Given the description of an element on the screen output the (x, y) to click on. 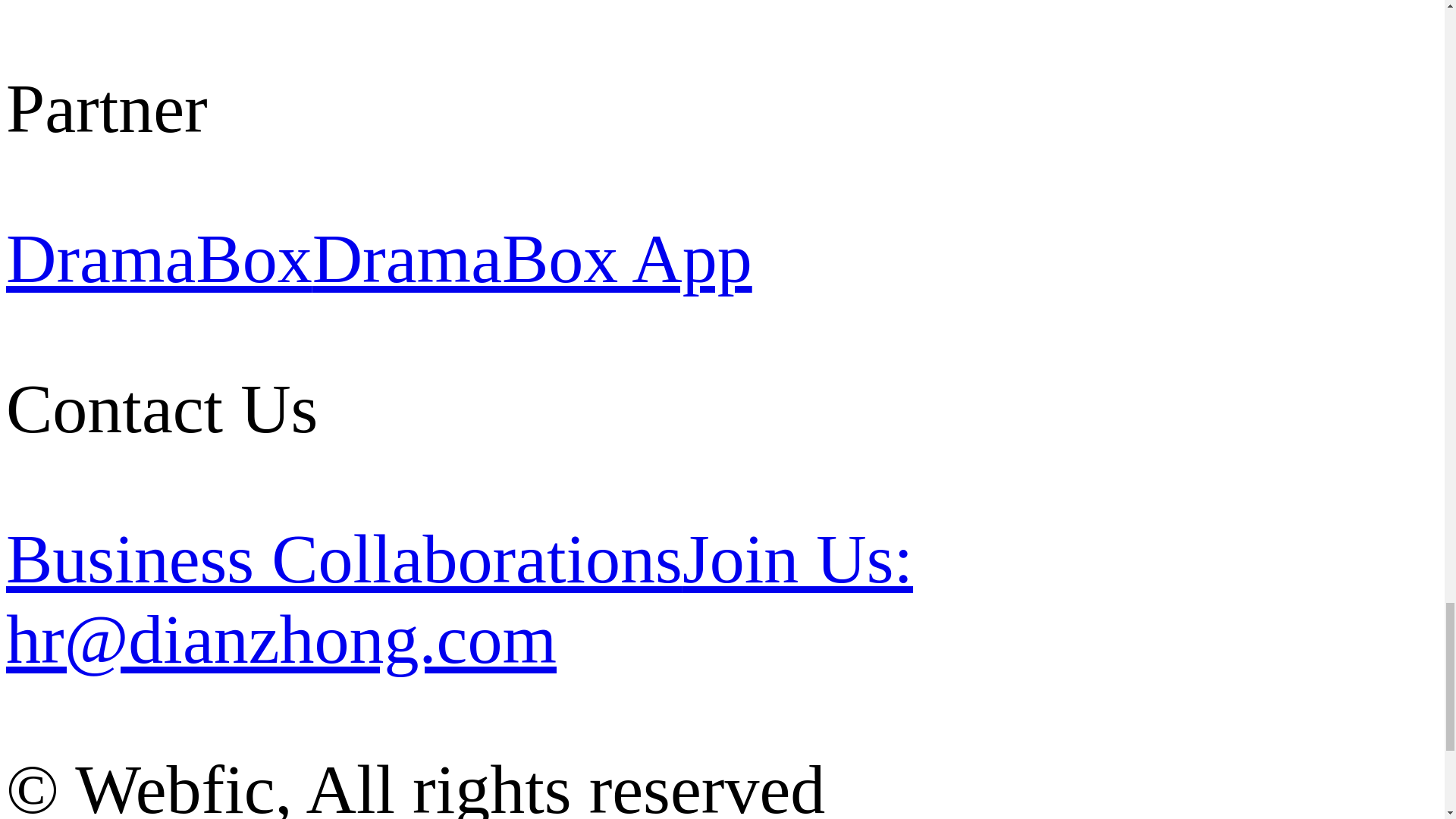
DramaBox (159, 258)
Business Collaborations (343, 558)
DramaBox App (532, 258)
